Given the description of an element on the screen output the (x, y) to click on. 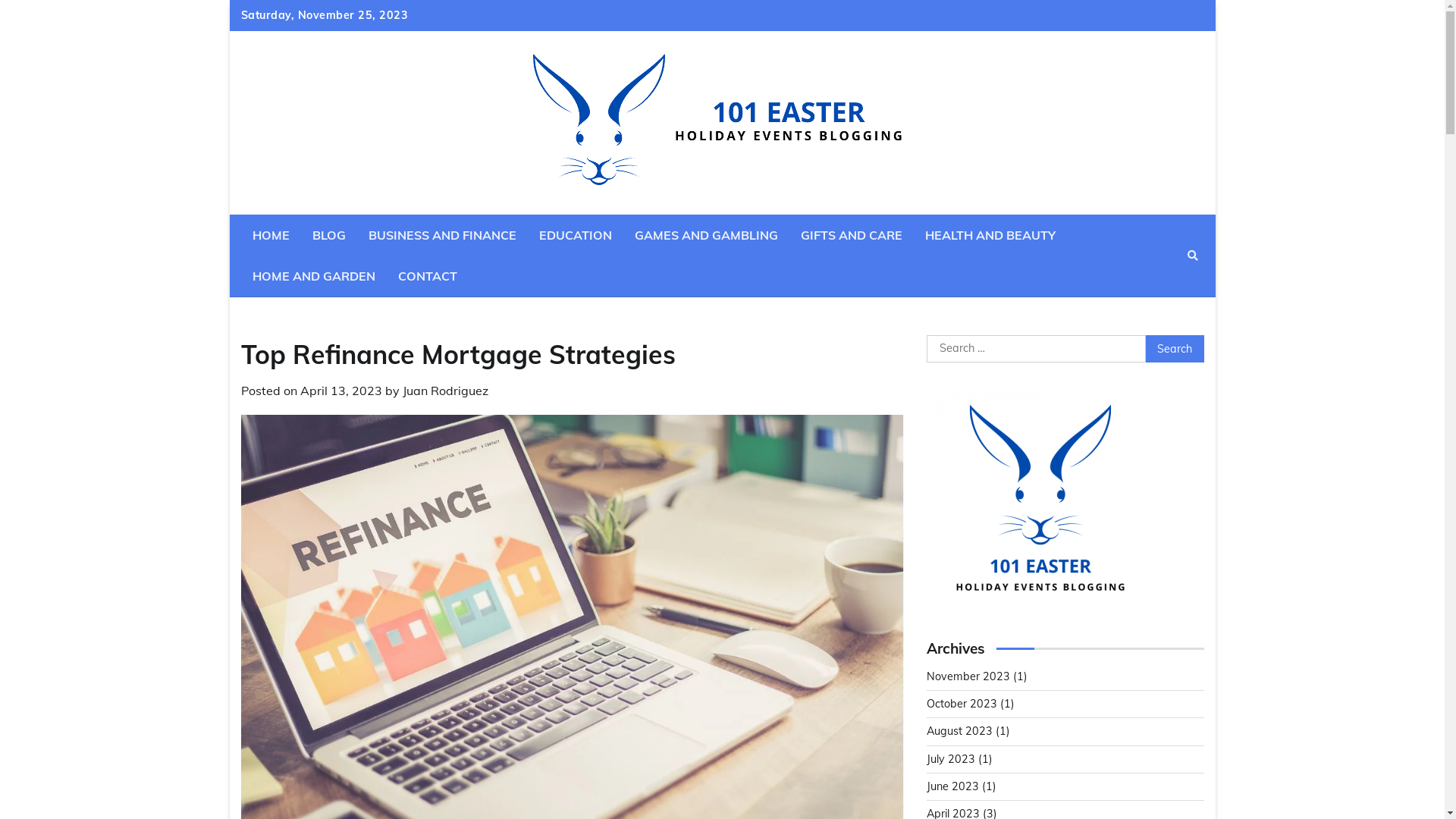
HEALTH AND BEAUTY Element type: text (989, 234)
October 2023 Element type: text (961, 703)
CONTACT Element type: text (427, 275)
GIFTS AND CARE Element type: text (850, 234)
June 2023 Element type: text (952, 786)
Search Element type: text (1164, 290)
Search Element type: hover (1192, 255)
July 2023 Element type: text (950, 758)
EDUCATION Element type: text (575, 234)
BUSINESS AND FINANCE Element type: text (441, 234)
Juan Rodriguez Element type: text (444, 390)
GAMES AND GAMBLING Element type: text (706, 234)
HOME Element type: text (271, 234)
August 2023 Element type: text (959, 730)
HOME AND GARDEN Element type: text (313, 275)
April 13, 2023 Element type: text (341, 390)
BLOG Element type: text (328, 234)
November 2023 Element type: text (968, 676)
Search Element type: text (1174, 348)
